Given the description of an element on the screen output the (x, y) to click on. 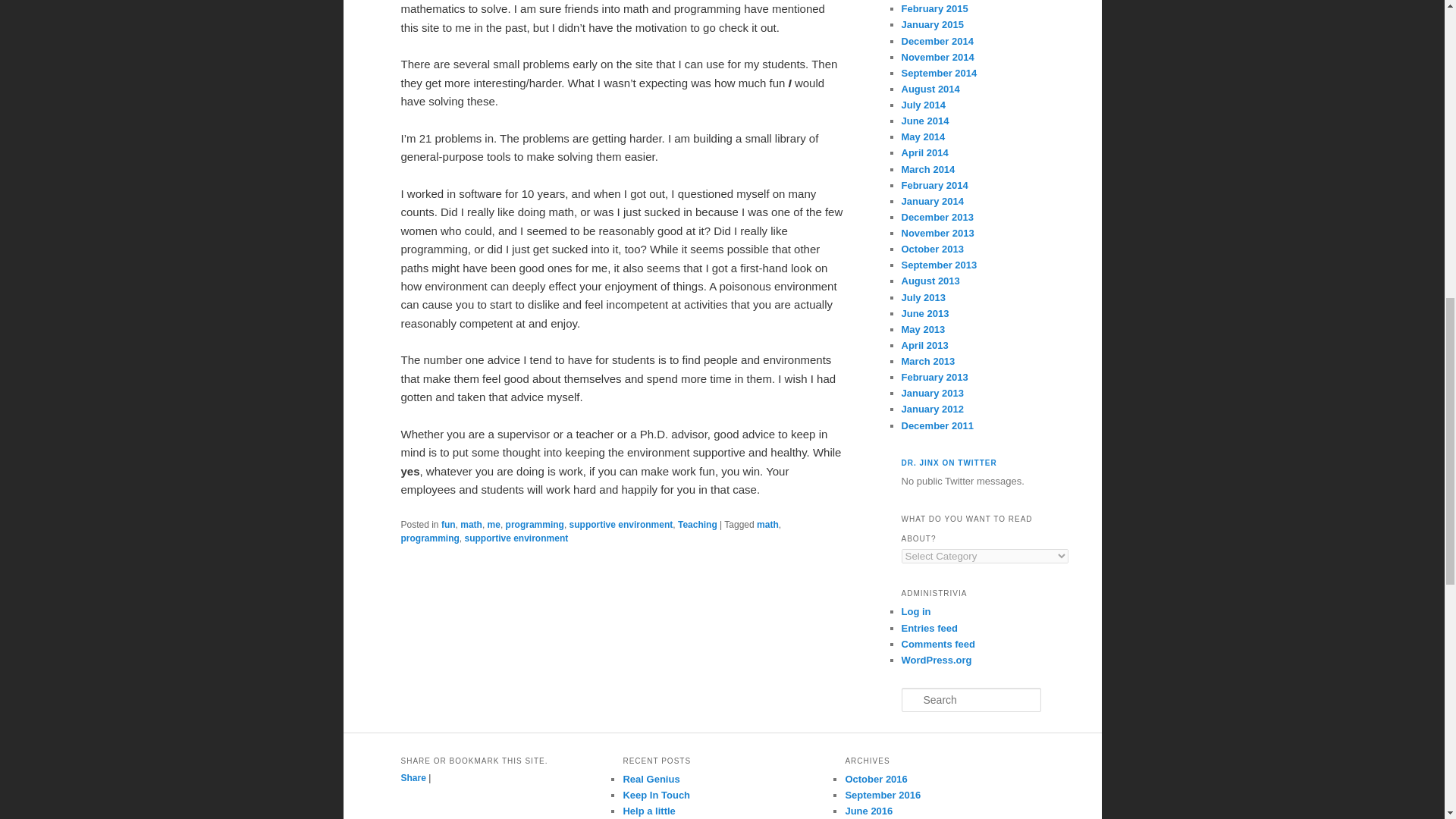
supportive environment (516, 538)
fun (448, 524)
programming (429, 538)
math (470, 524)
math (767, 524)
programming (534, 524)
supportive environment (620, 524)
me (493, 524)
Teaching (697, 524)
